Given the description of an element on the screen output the (x, y) to click on. 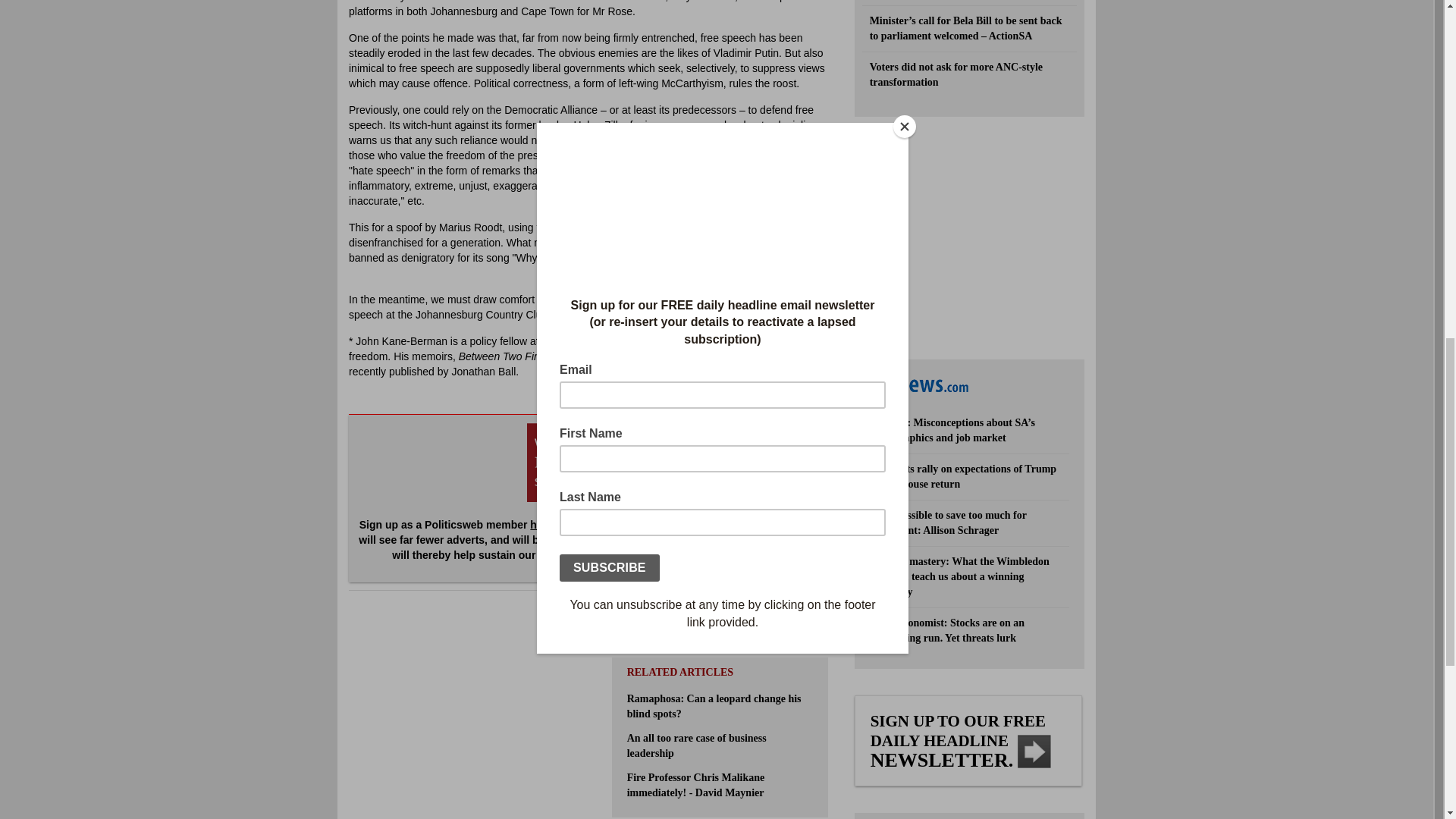
here (541, 525)
Ramaphosa: Can a leopard change his blind spots? (714, 705)
An all too rare case of business leadership (697, 745)
Fire Professor Chris Malikane immediately! - David Maynier (696, 785)
